Given the description of an element on the screen output the (x, y) to click on. 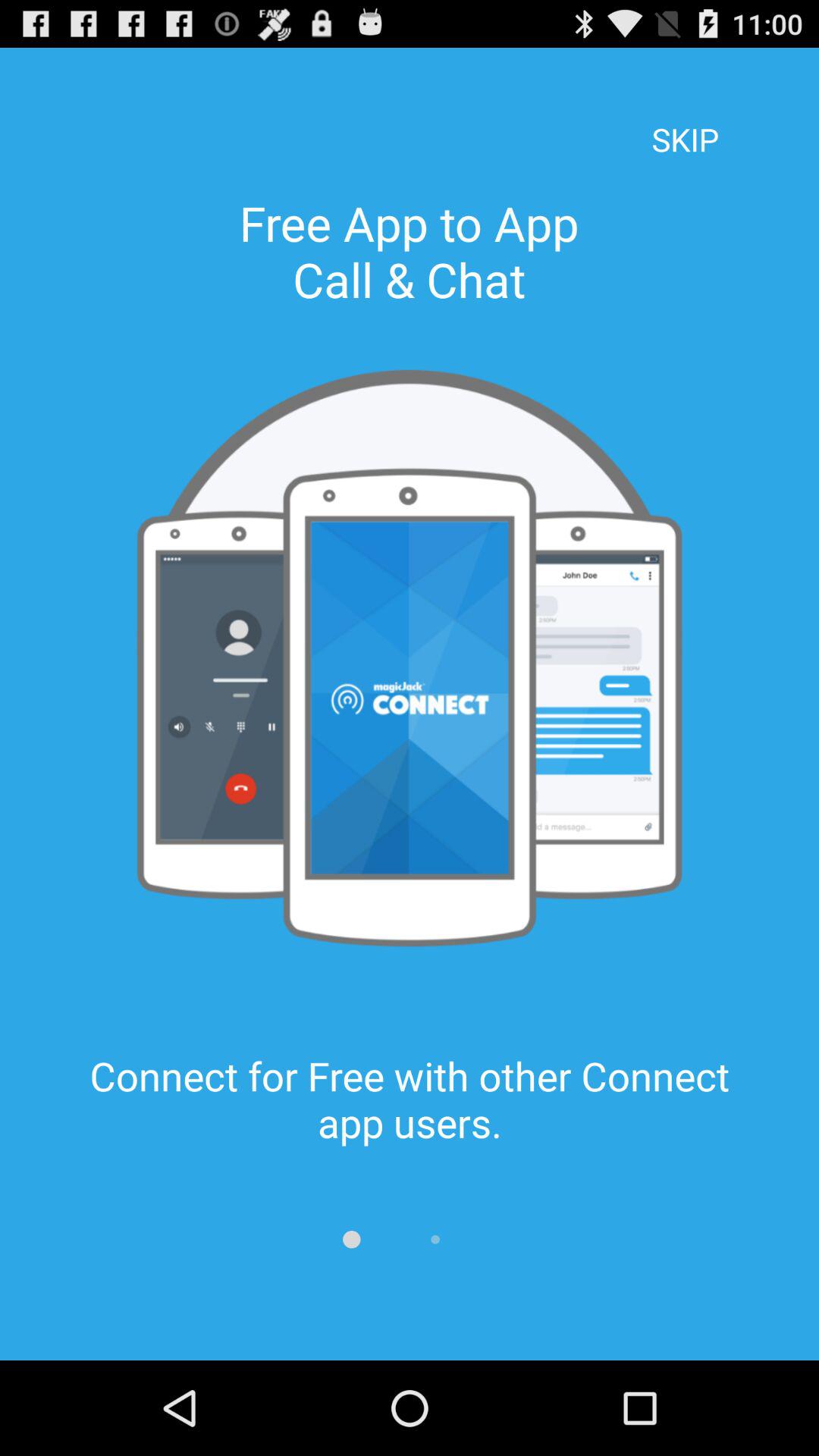
open item below connect for free (493, 1239)
